Given the description of an element on the screen output the (x, y) to click on. 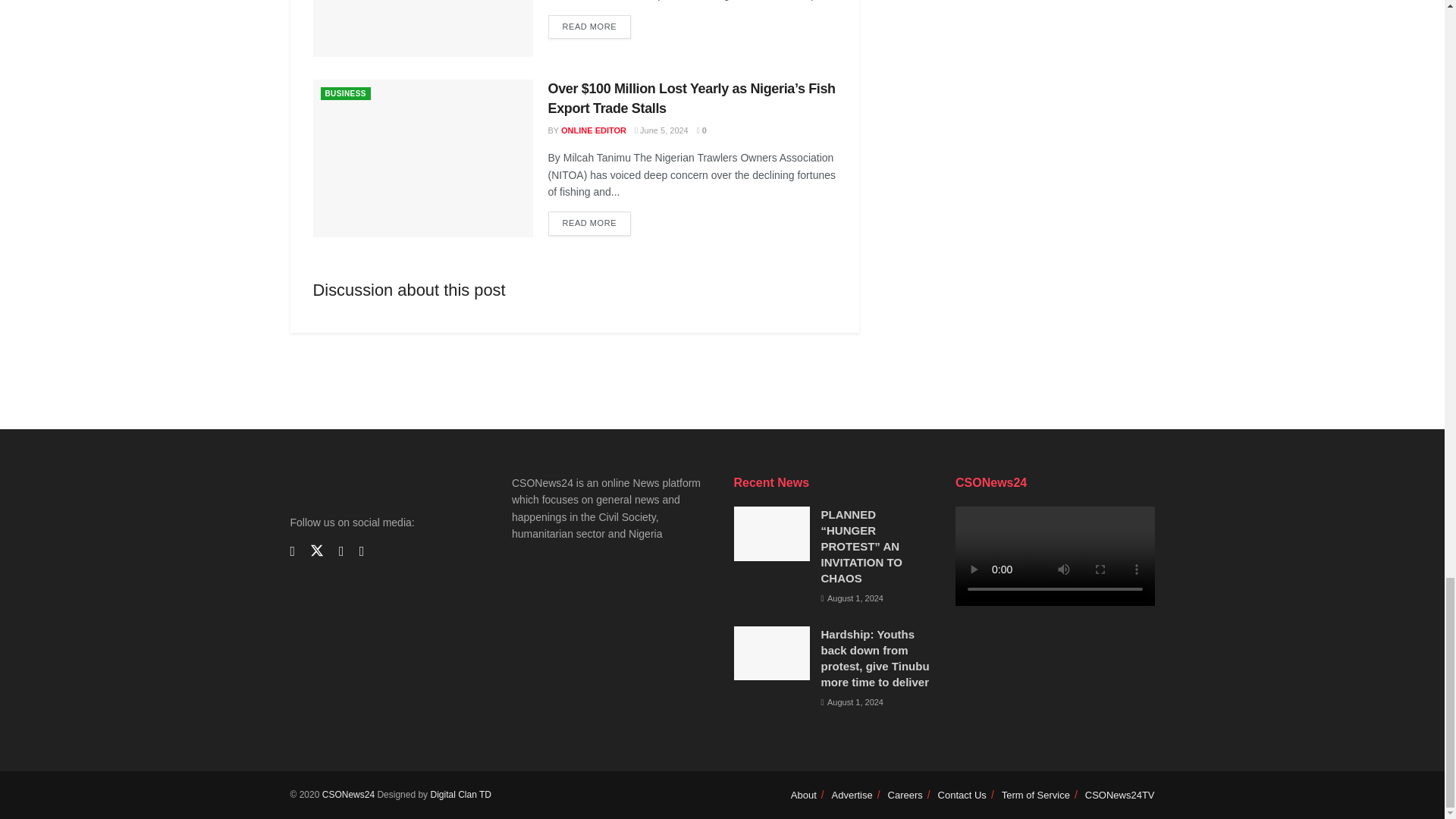
Digital Clan TD (459, 794)
CSONews24 (347, 794)
